Given the description of an element on the screen output the (x, y) to click on. 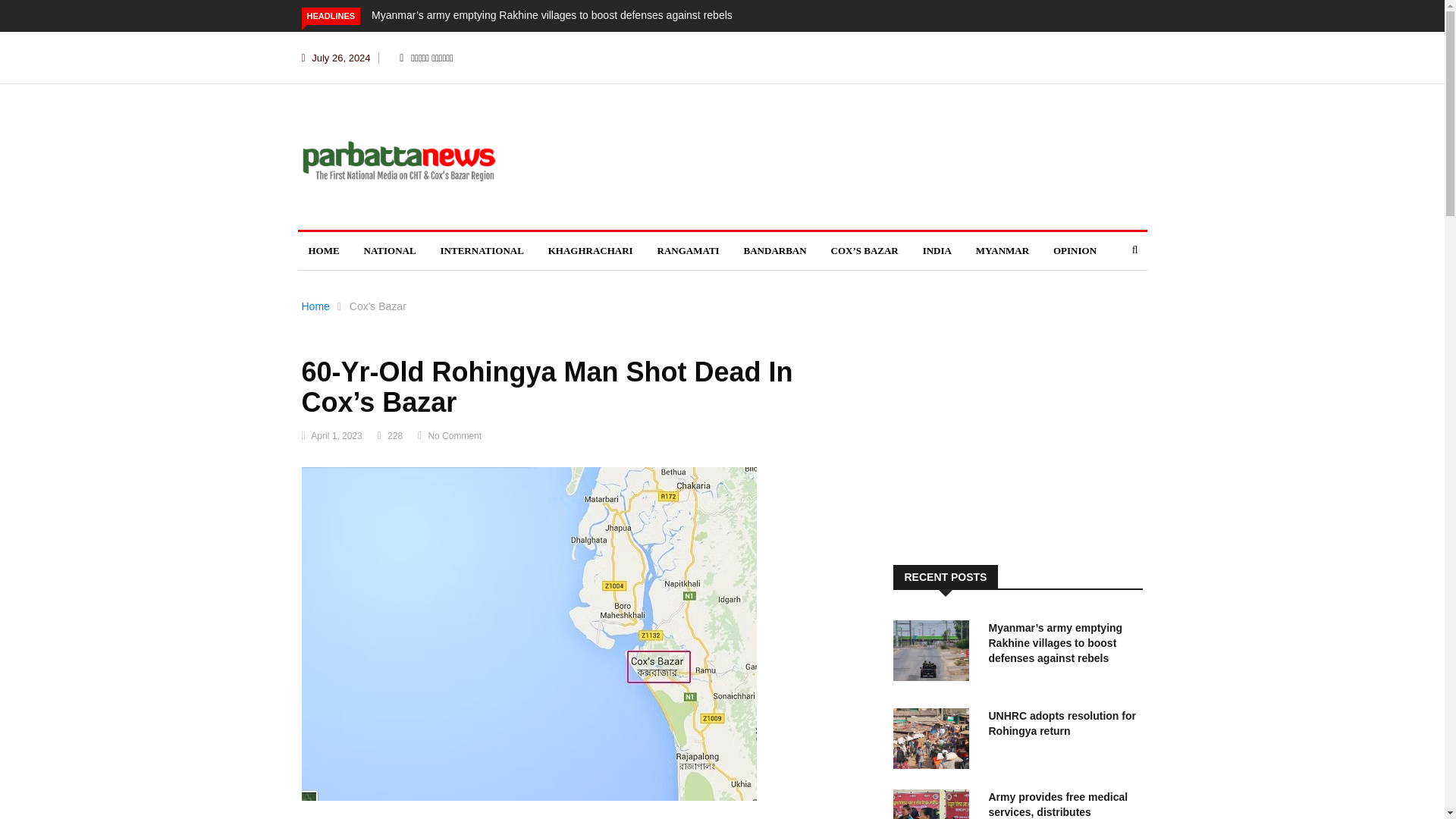
INDIA (937, 250)
Cox's Bazar (377, 306)
OPINION (1074, 250)
UNHRC adopts resolution for Rohingya return (1061, 723)
KHAGHRACHARI (590, 250)
INTERNATIONAL (481, 250)
Advertisement (782, 156)
logo (398, 159)
Home (315, 306)
BANDARBAN (774, 250)
Advertisement (1017, 440)
MYANMAR (1002, 250)
UNHRC adopts resolution for Rohingya return (1061, 723)
